Given the description of an element on the screen output the (x, y) to click on. 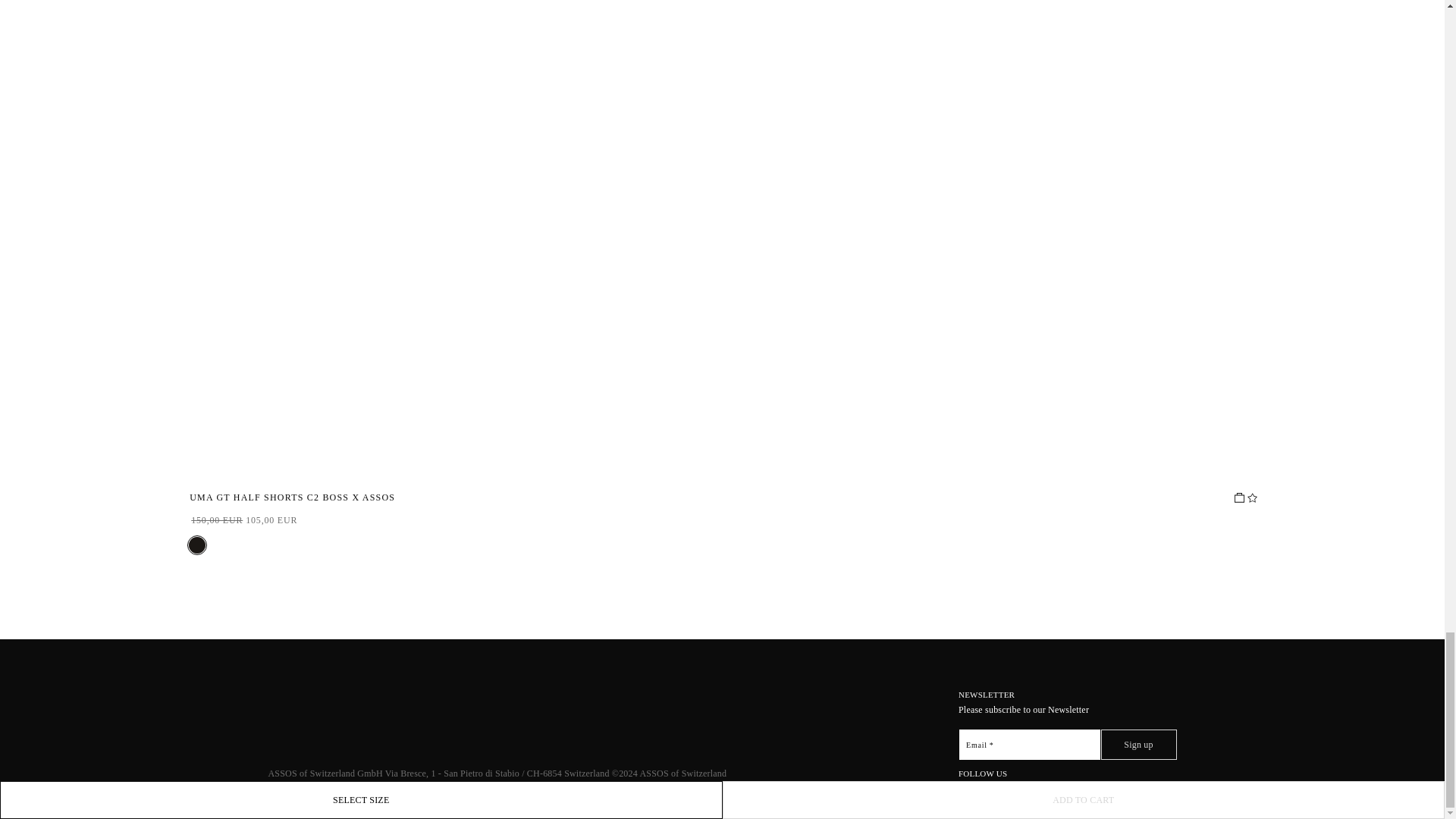
Add to Wishlist (1250, 497)
blackSeries (197, 545)
